Given the description of an element on the screen output the (x, y) to click on. 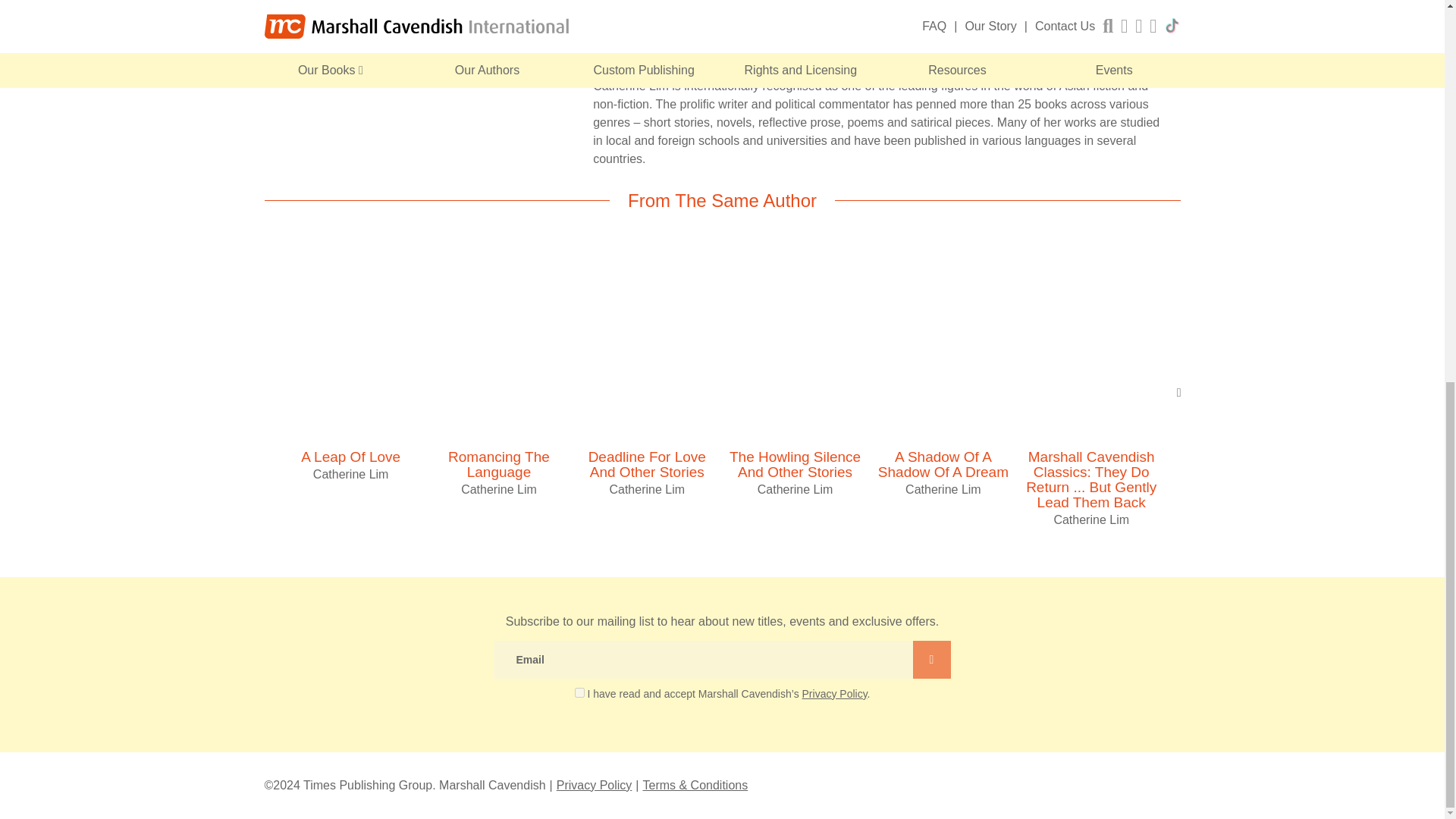
1 (580, 691)
